Given the description of an element on the screen output the (x, y) to click on. 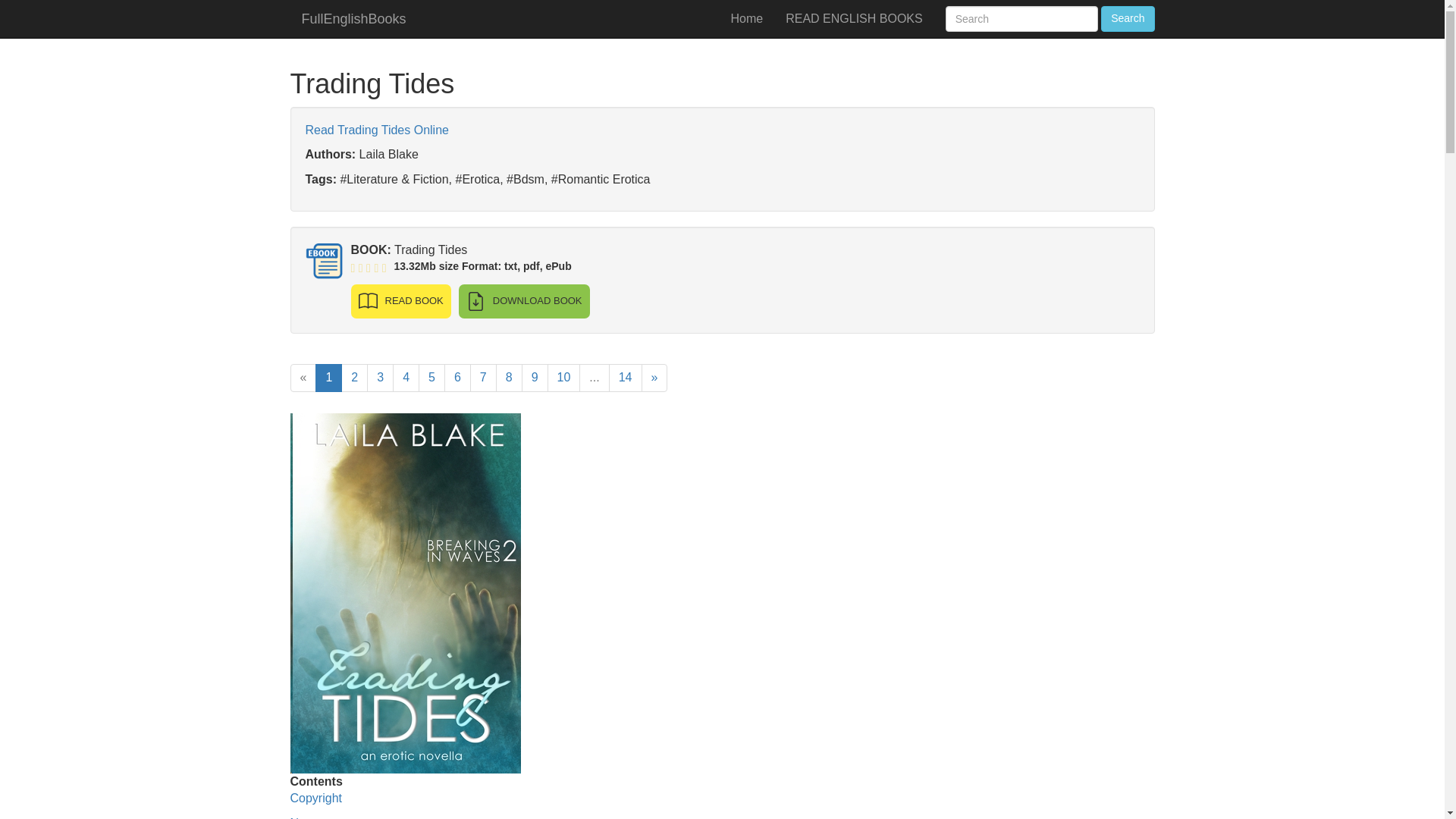
4 (406, 377)
READ ENGLISH BOOKS (854, 18)
Now (301, 817)
3 (379, 377)
Home (746, 18)
Read Trading Tides Online (376, 129)
DOWNLOAD BOOK (523, 301)
FullEnglishBooks (352, 18)
6 (457, 377)
5 (432, 377)
